Given the description of an element on the screen output the (x, y) to click on. 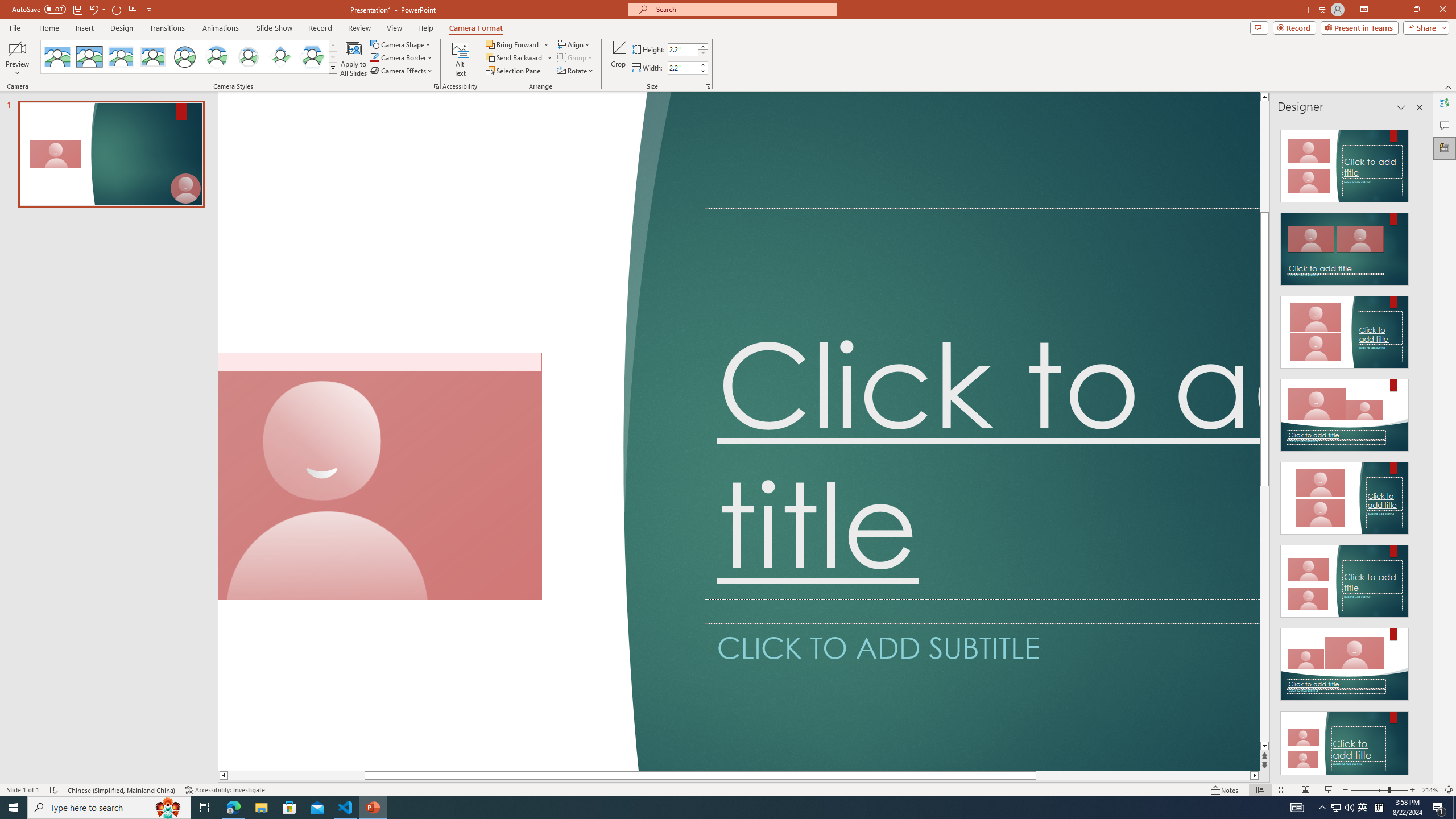
Subtitle TextBox (981, 696)
Alt Text (459, 58)
Center Shadow Rectangle (120, 56)
Align (574, 44)
Apply to All Slides (353, 58)
Cameo Width (682, 67)
